Given the description of an element on the screen output the (x, y) to click on. 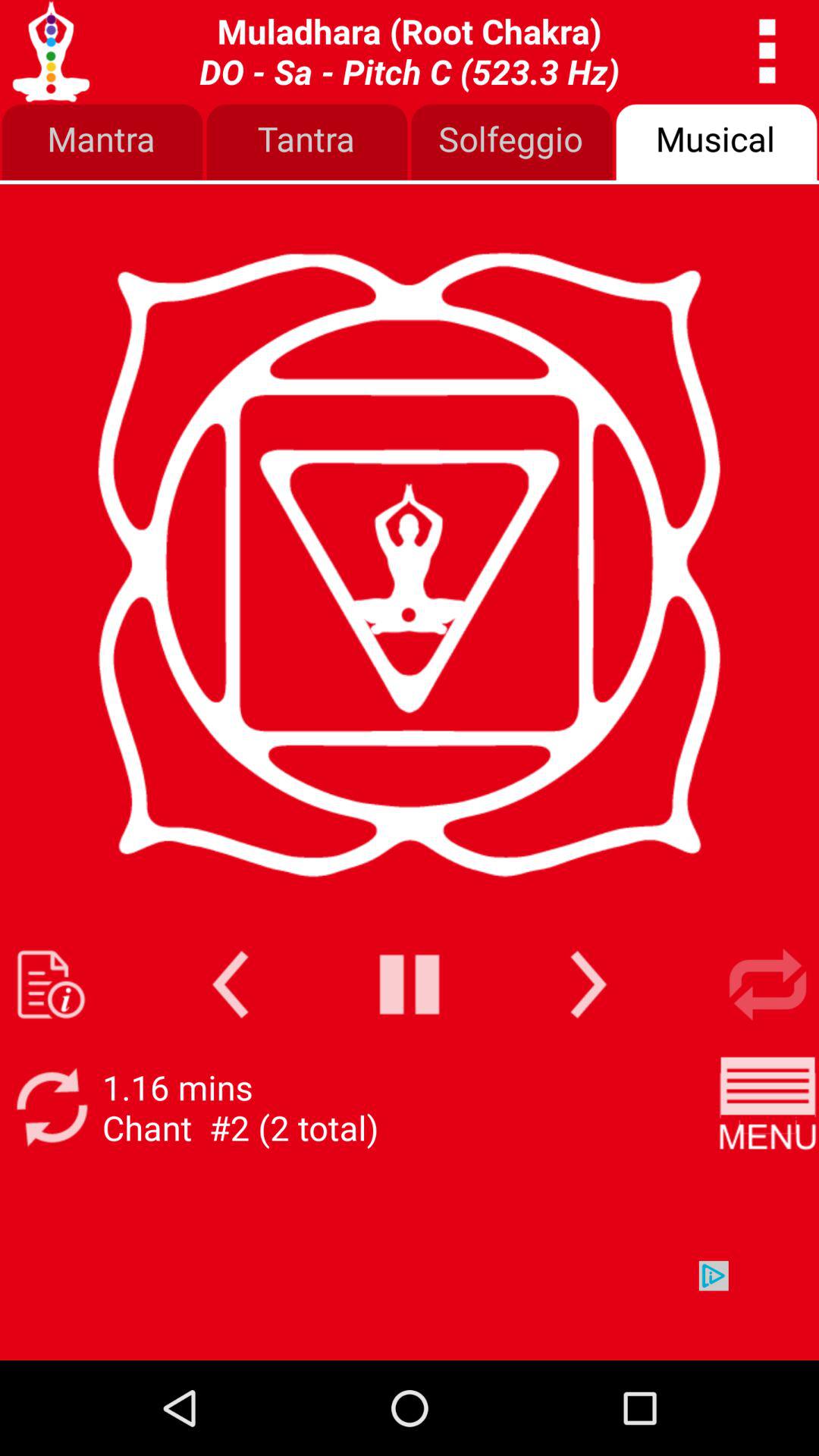
skip audio (588, 984)
